Given the description of an element on the screen output the (x, y) to click on. 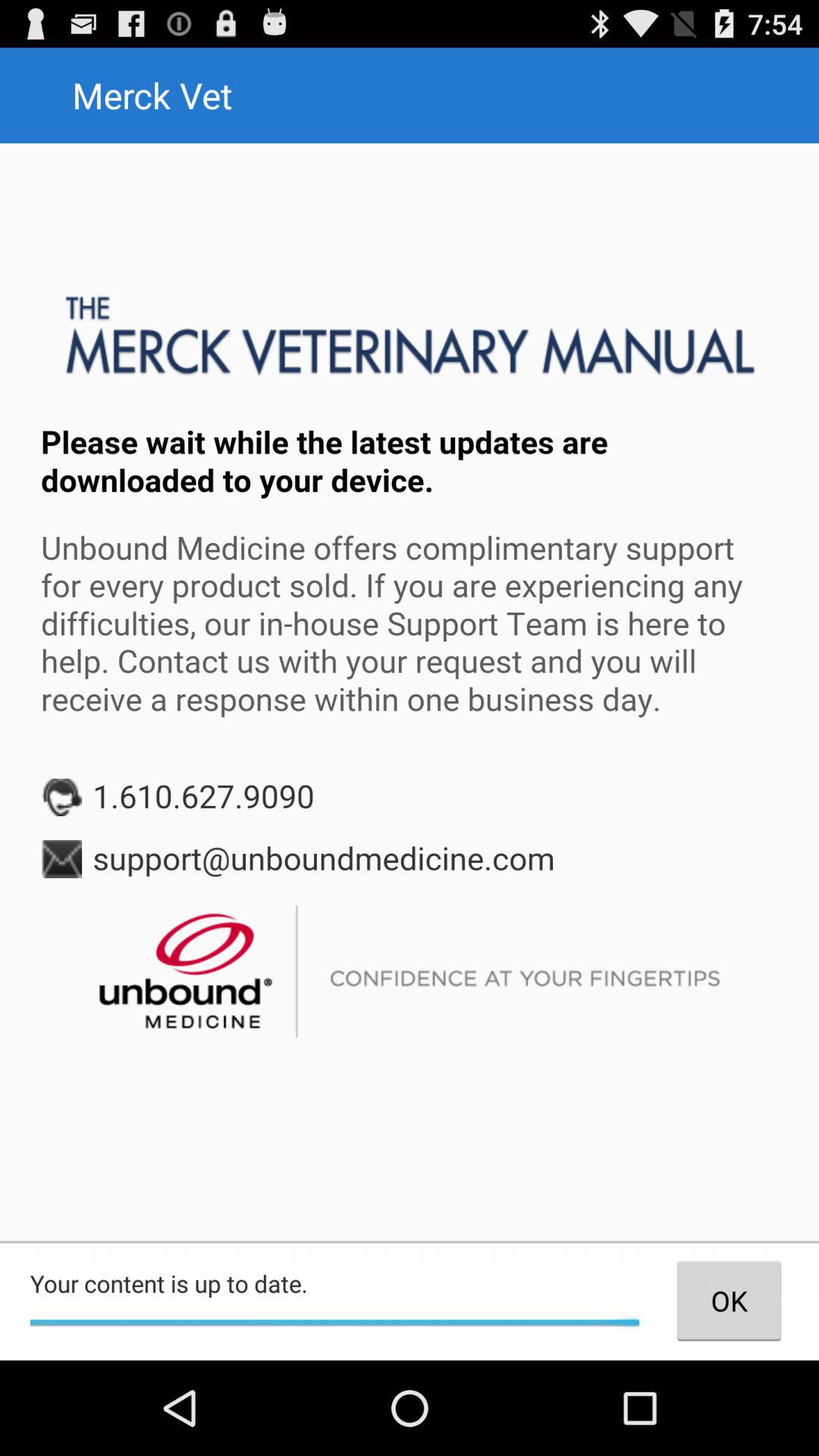
redirection screen (409, 692)
